Given the description of an element on the screen output the (x, y) to click on. 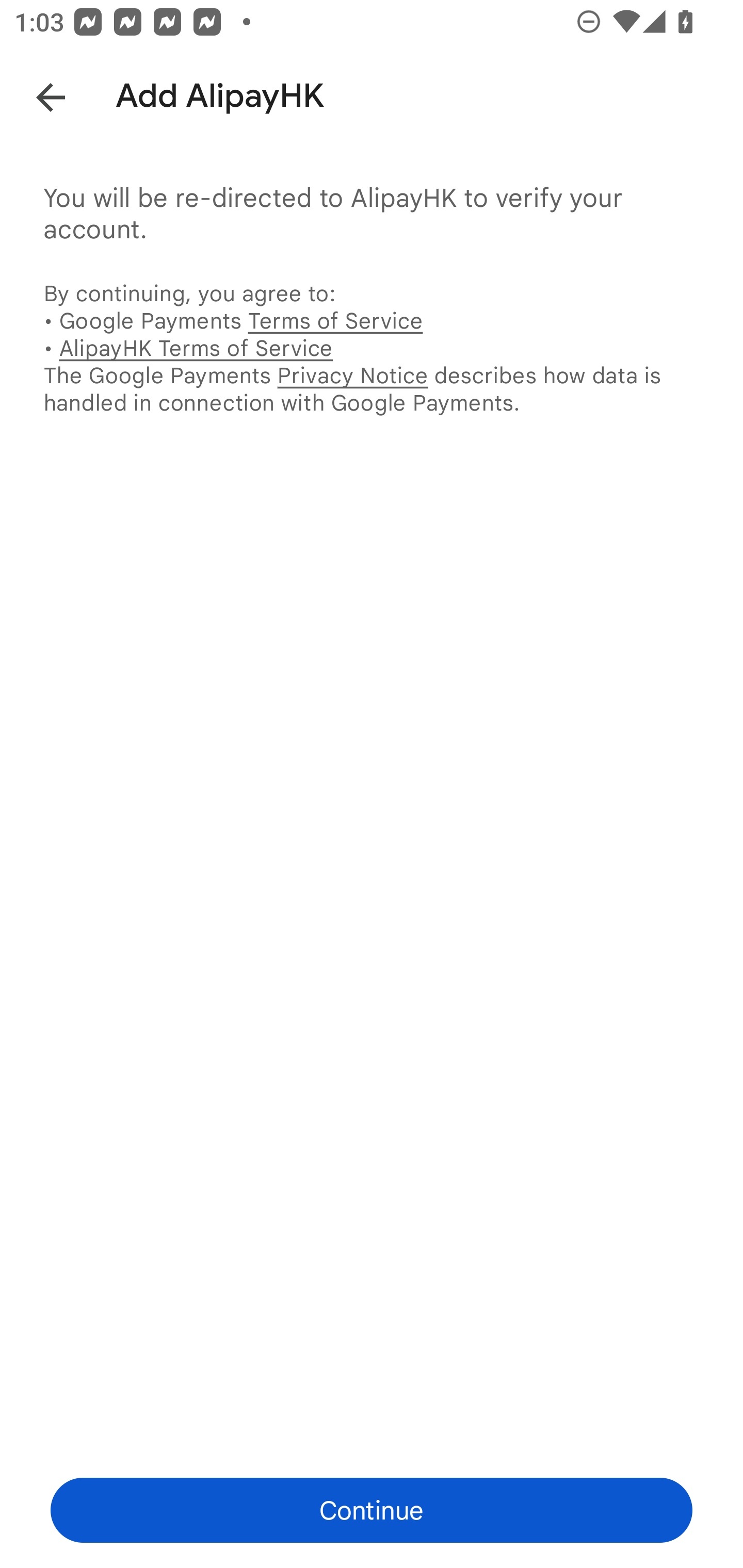
Back (36, 94)
Terms of Service (334, 320)
AlipayHK Terms of Service (195, 347)
Privacy Notice (352, 375)
Continue (371, 1510)
